Given the description of an element on the screen output the (x, y) to click on. 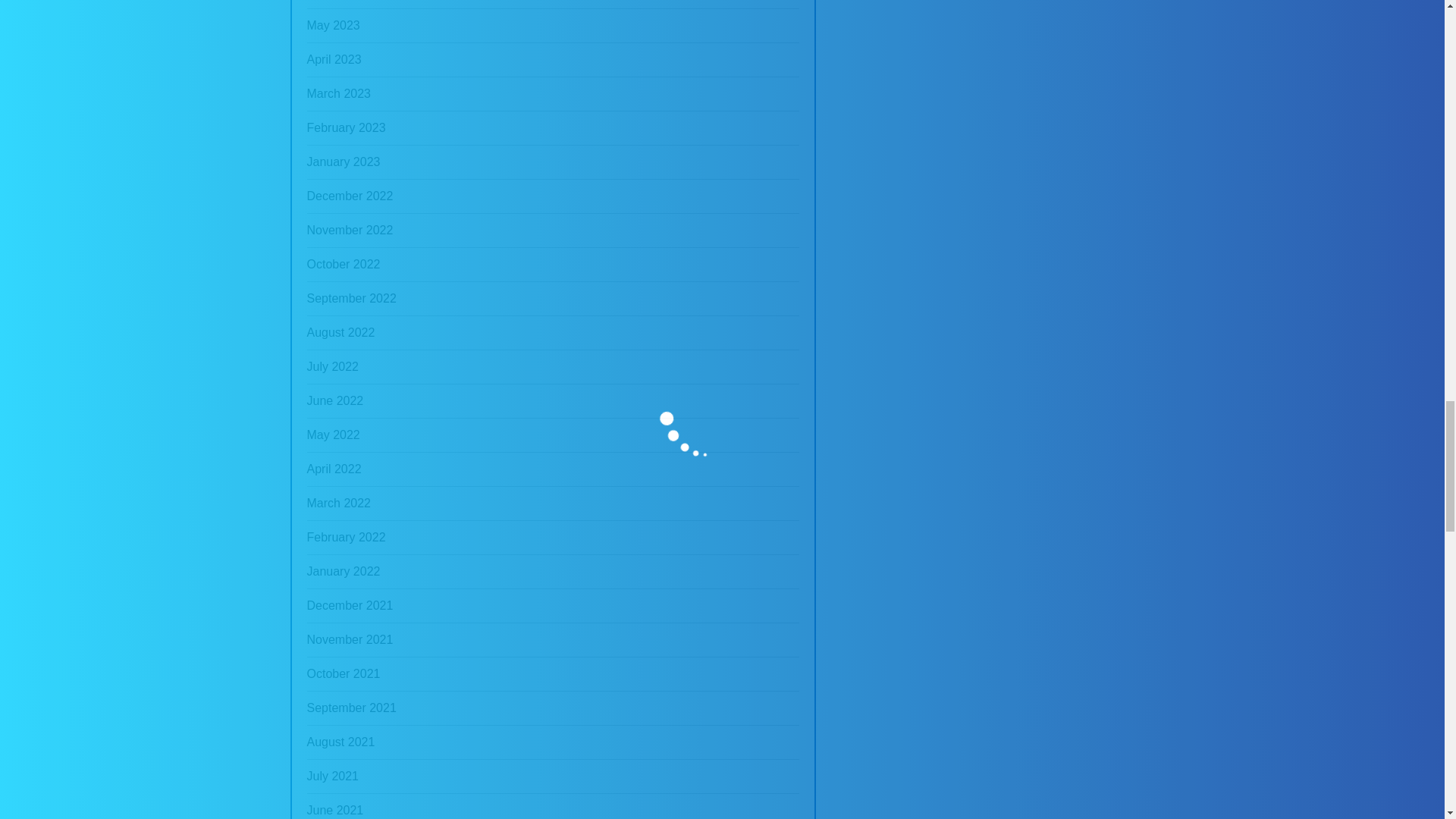
March 2023 (338, 93)
December 2022 (349, 195)
June 2023 (333, 4)
January 2023 (342, 162)
April 2023 (333, 59)
May 2023 (332, 25)
February 2023 (345, 127)
